Given the description of an element on the screen output the (x, y) to click on. 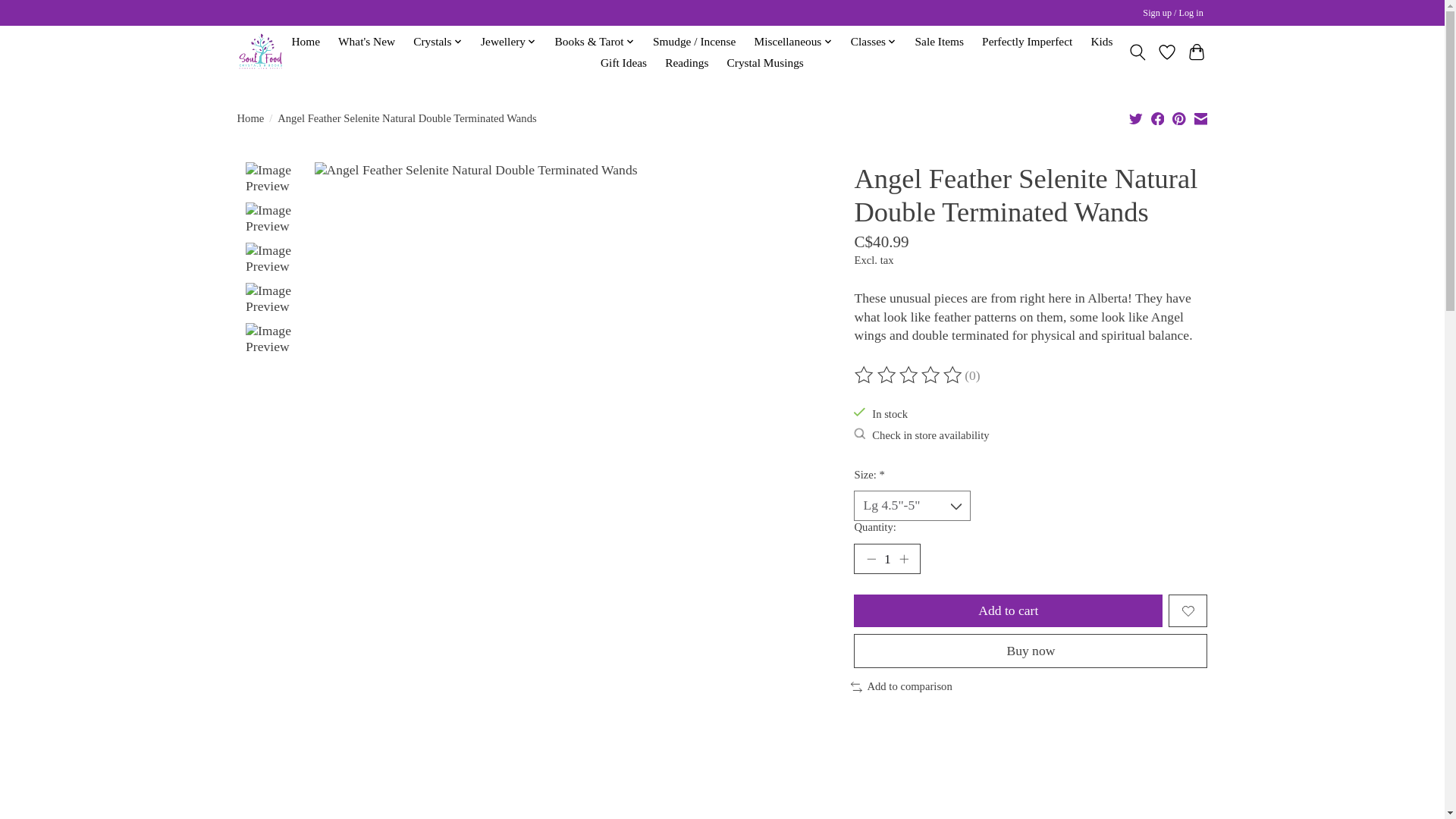
Home (304, 41)
Share by Email (1200, 118)
Share on Twitter (1135, 118)
Jewellery (508, 41)
1 (886, 558)
Soul Food Crystals (259, 51)
My account (1173, 13)
What's New (366, 41)
Crystals (437, 41)
Share on Pinterest (1178, 118)
